Given the description of an element on the screen output the (x, y) to click on. 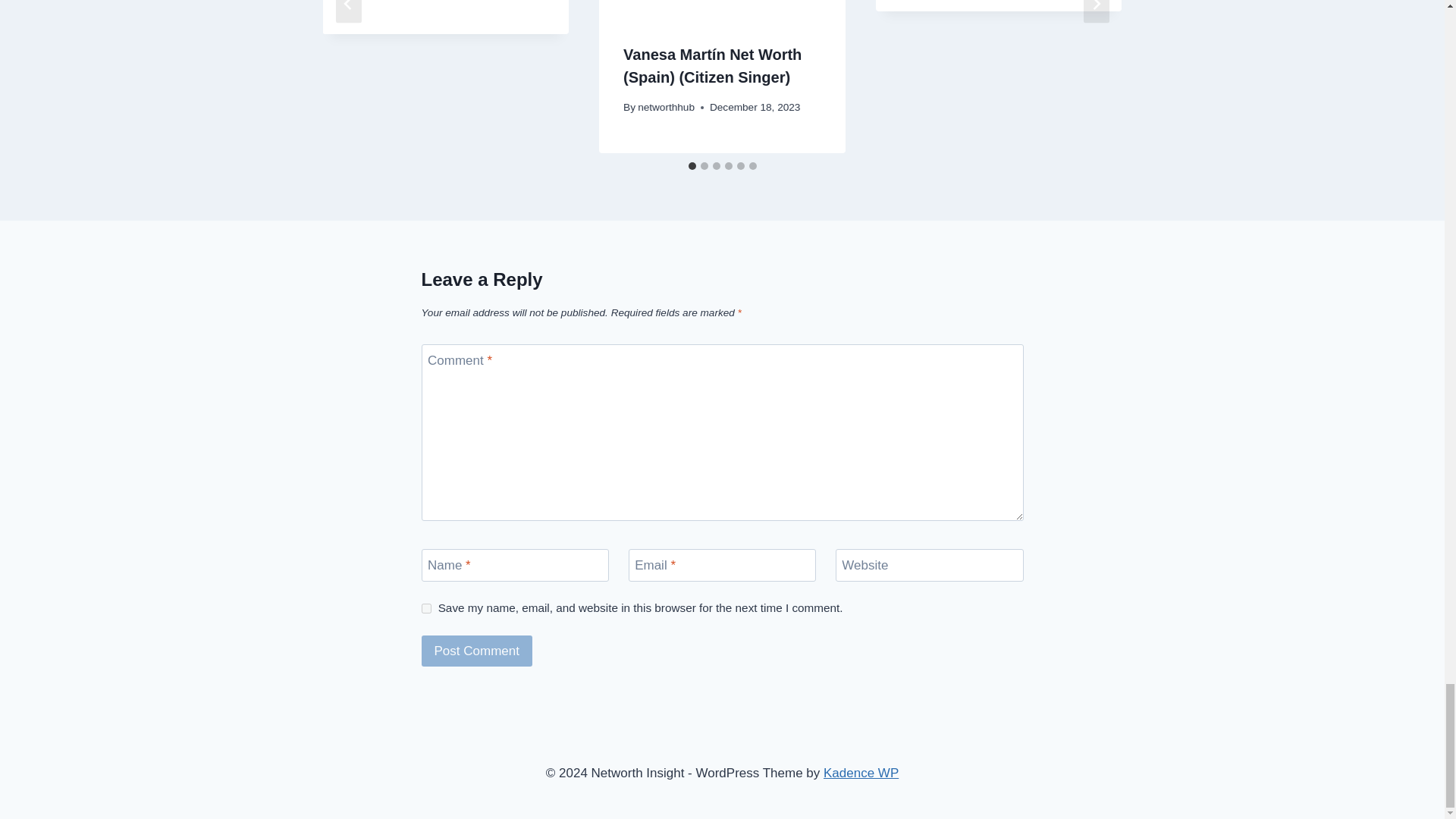
Post Comment (477, 650)
yes (426, 608)
